Given the description of an element on the screen output the (x, y) to click on. 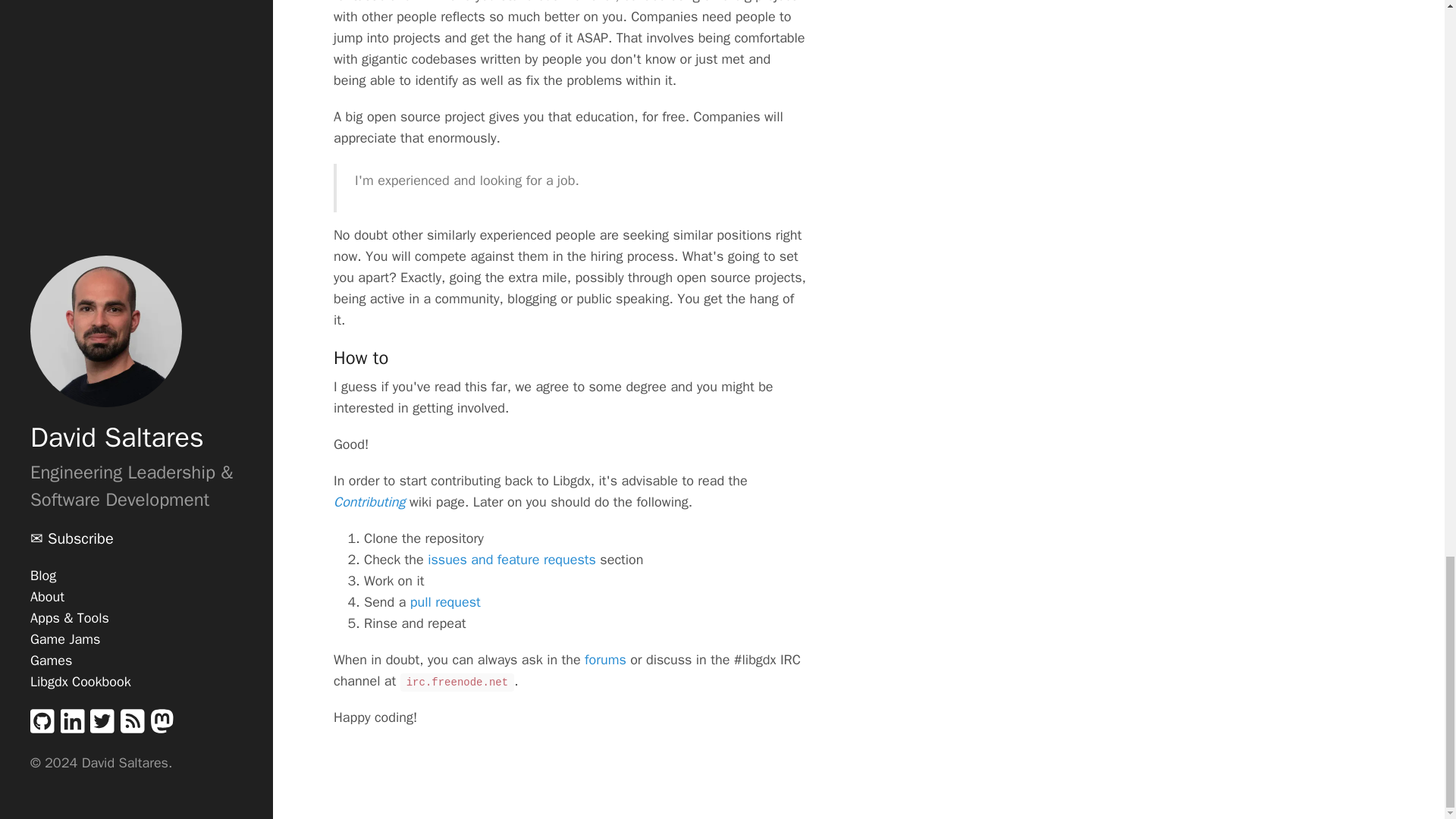
pull request (445, 601)
forums (605, 659)
Contributing (369, 501)
issues and feature requests (511, 559)
